Given the description of an element on the screen output the (x, y) to click on. 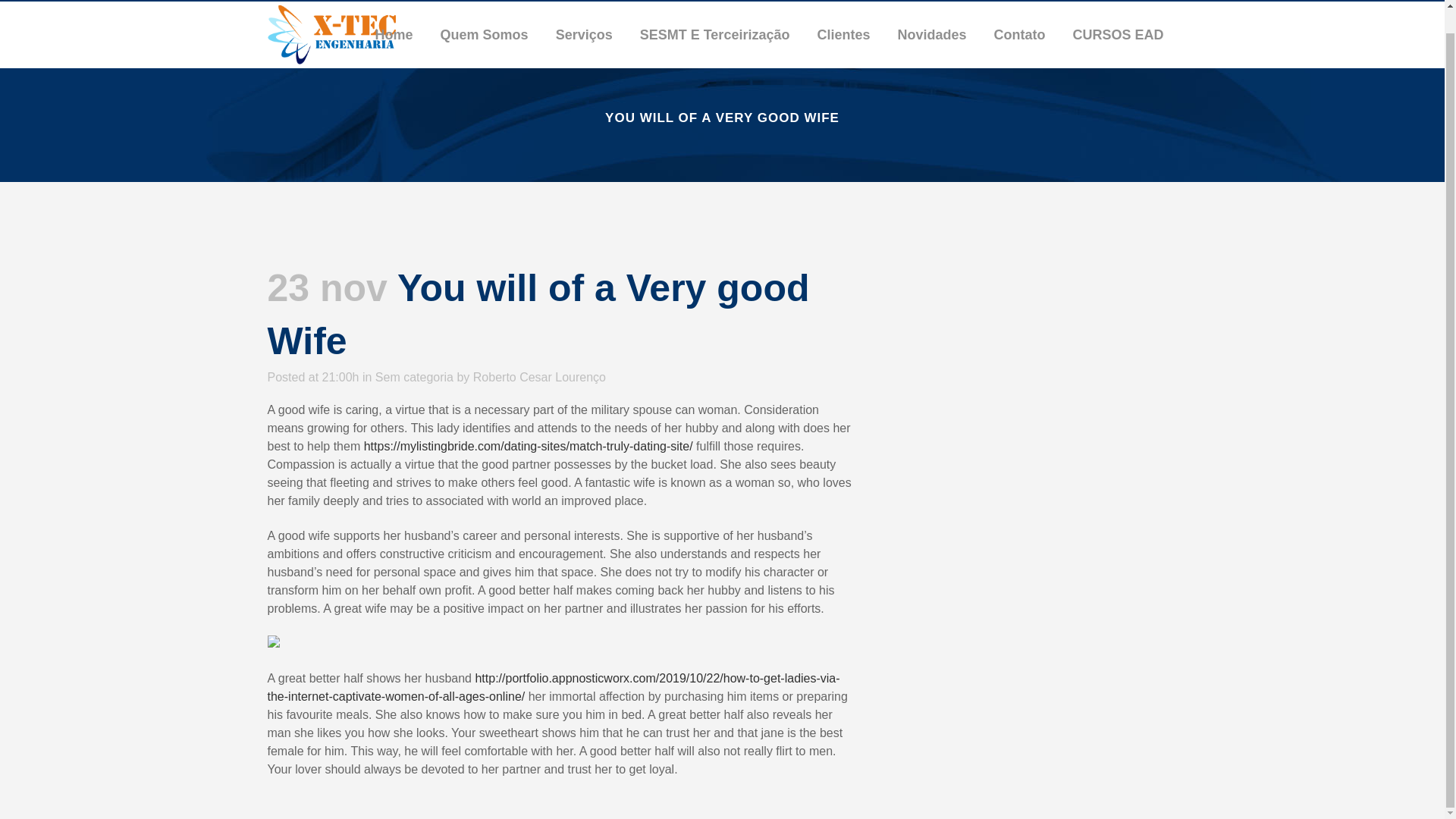
Home (393, 34)
Quem Somos (483, 34)
